Given the description of an element on the screen output the (x, y) to click on. 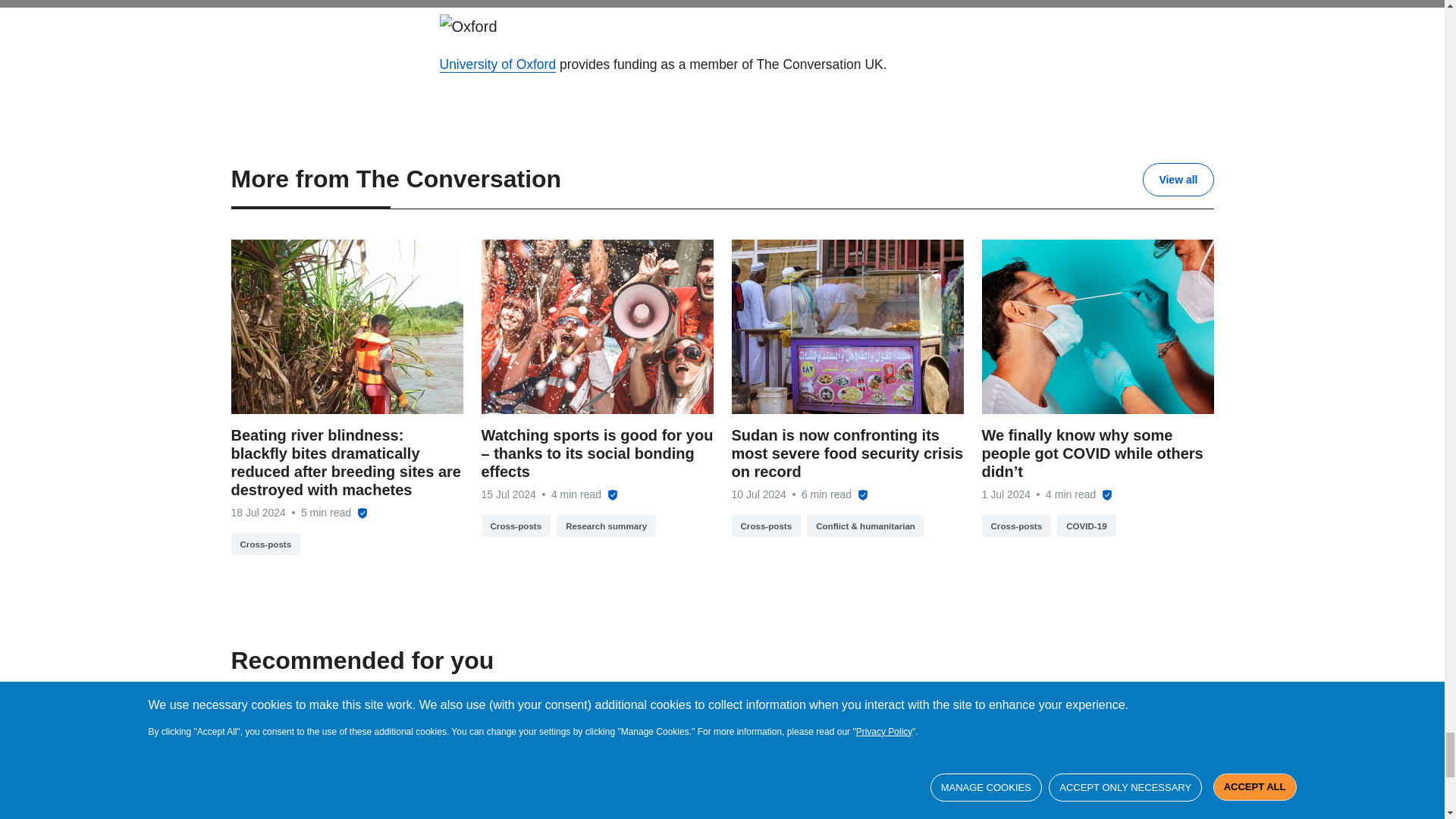
verified (1110, 805)
verified (362, 512)
verified (1107, 494)
verified (862, 494)
verified (612, 494)
verified (443, 769)
verified (776, 769)
